Given the description of an element on the screen output the (x, y) to click on. 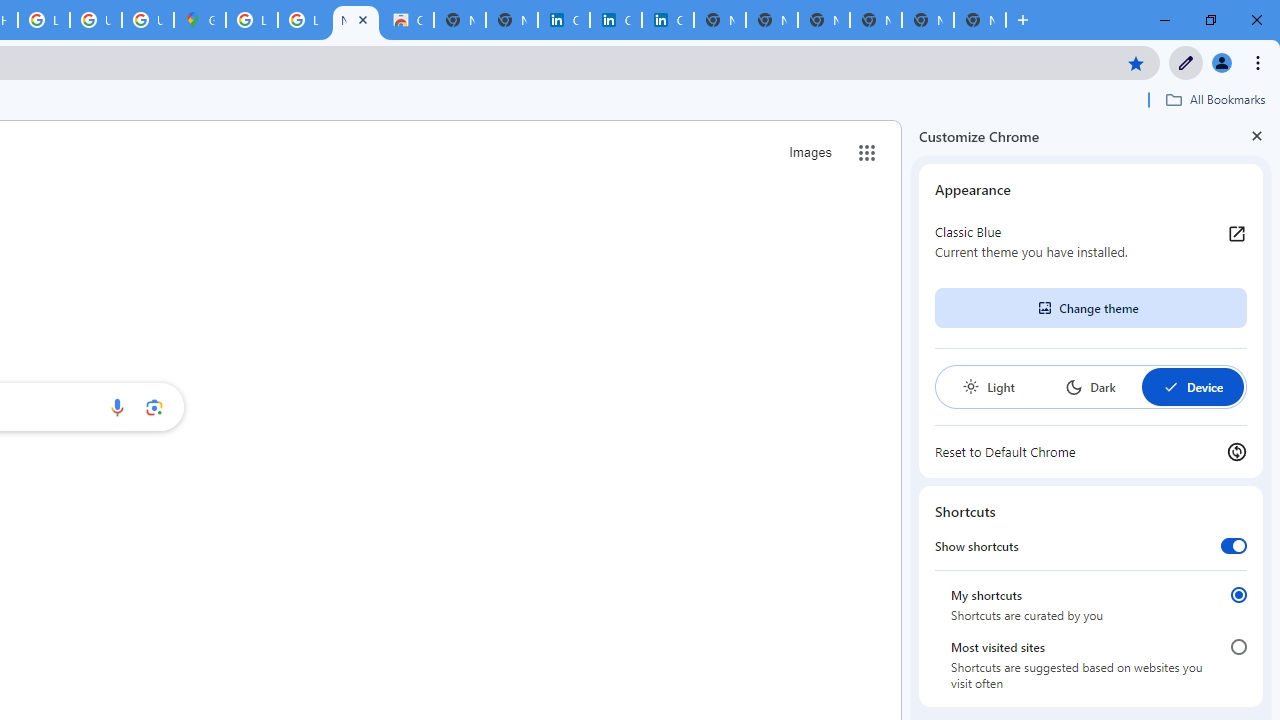
New Tab (875, 20)
Show shortcuts (1233, 545)
My shortcuts (1238, 594)
New Tab (979, 20)
Cookie Policy | LinkedIn (563, 20)
Device (1192, 386)
